Given the description of an element on the screen output the (x, y) to click on. 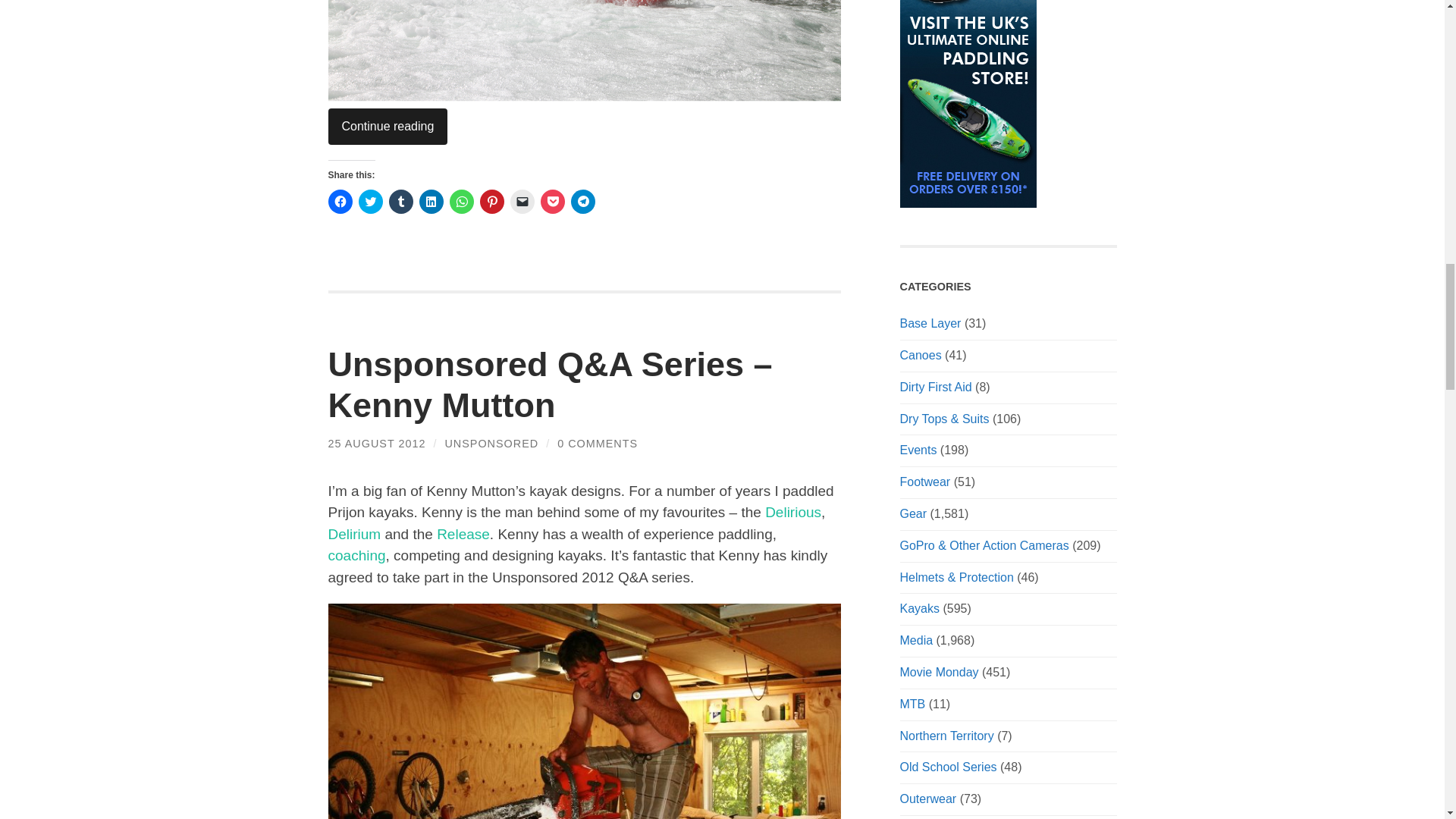
Click to share on Twitter (369, 201)
Click to share on LinkedIn (430, 201)
Click to share on Tumblr (400, 201)
Click to share on Facebook (339, 201)
